Given the description of an element on the screen output the (x, y) to click on. 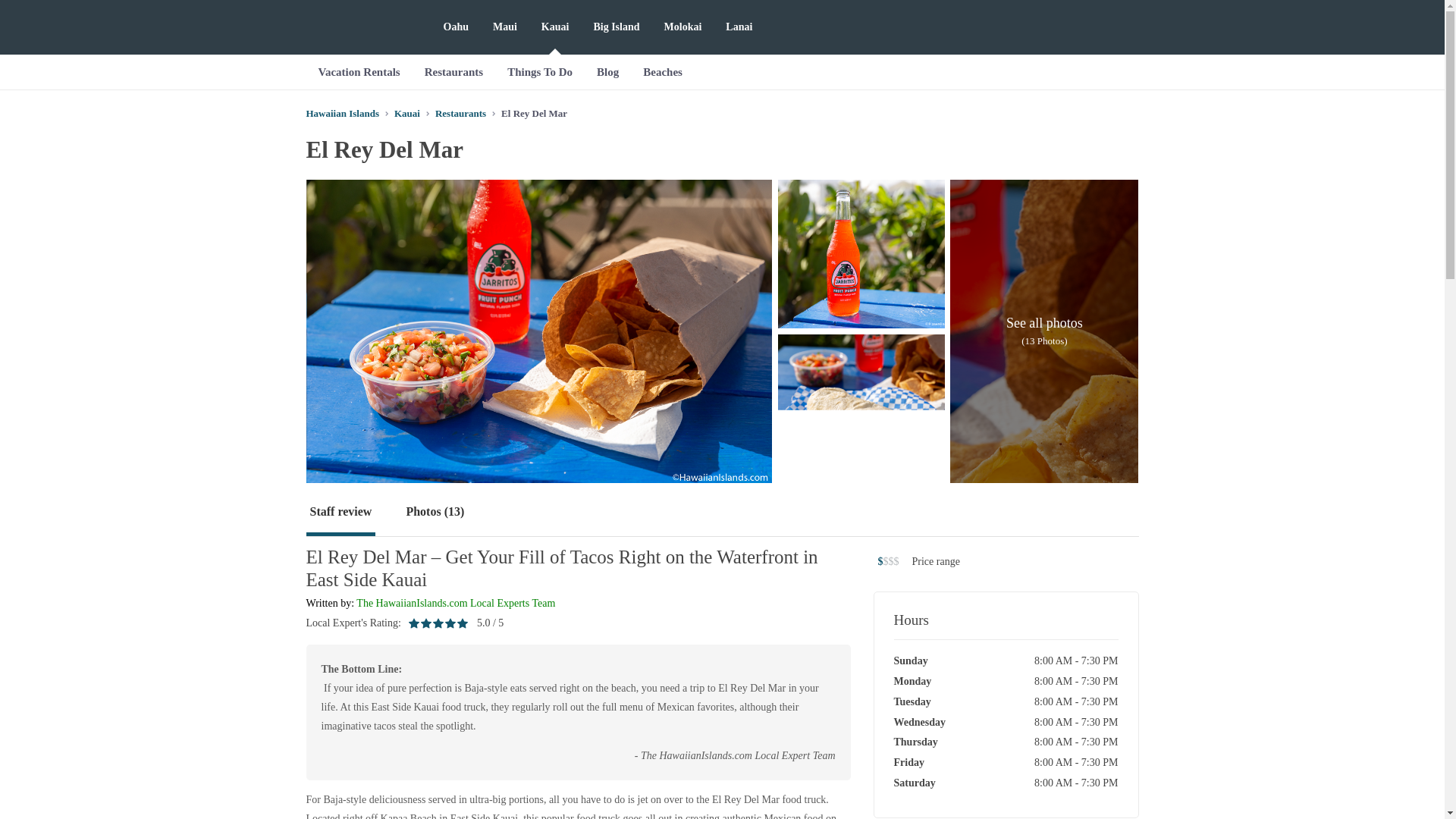
Vacation Rentals (358, 71)
Original Photo (860, 253)
Beaches (662, 71)
Blog (607, 71)
Restaurants (460, 112)
Staff review (340, 513)
Kauai (407, 112)
The HawaiianIslands.com Local Experts Team (455, 603)
Things To Do (540, 71)
Restaurants (454, 71)
Original Photo (860, 408)
Hawaiian Islands (341, 112)
